Given the description of an element on the screen output the (x, y) to click on. 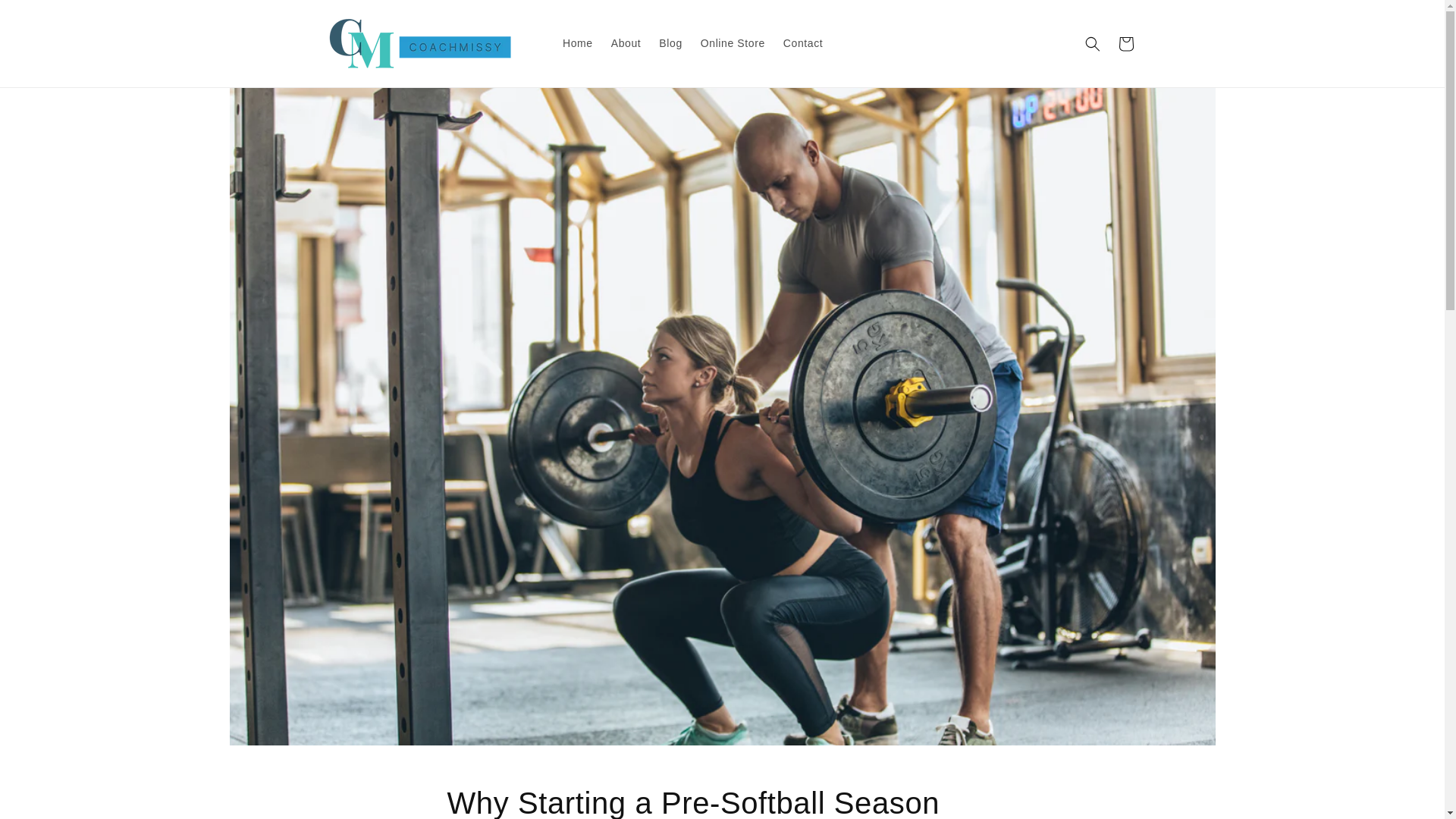
About (626, 42)
Skip to content (45, 17)
Blog (669, 42)
Cart (1124, 43)
Online Store (732, 42)
Home (577, 42)
Contact (802, 42)
